Given the description of an element on the screen output the (x, y) to click on. 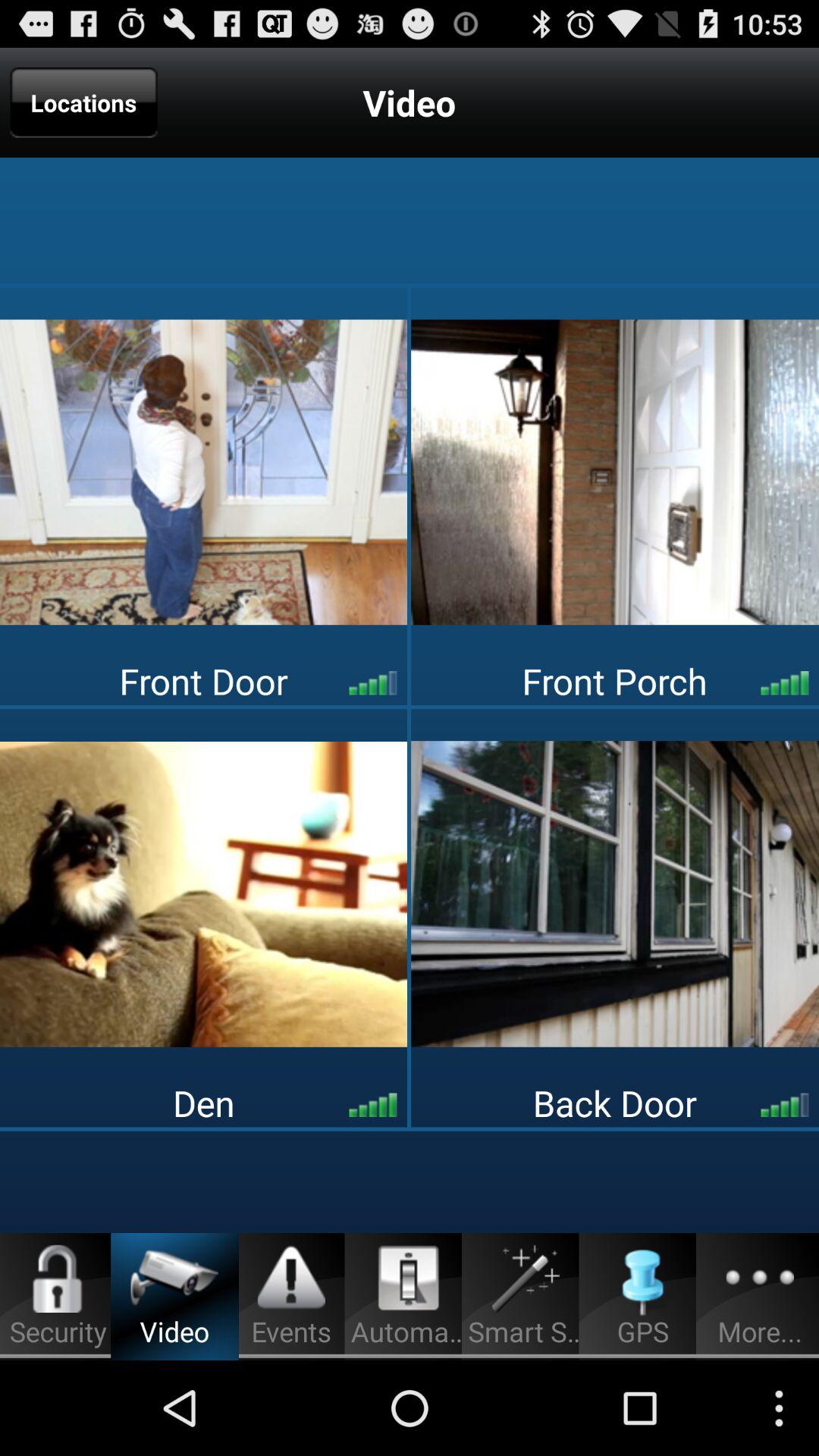
open the icon at the top right corner (615, 471)
